Given the description of an element on the screen output the (x, y) to click on. 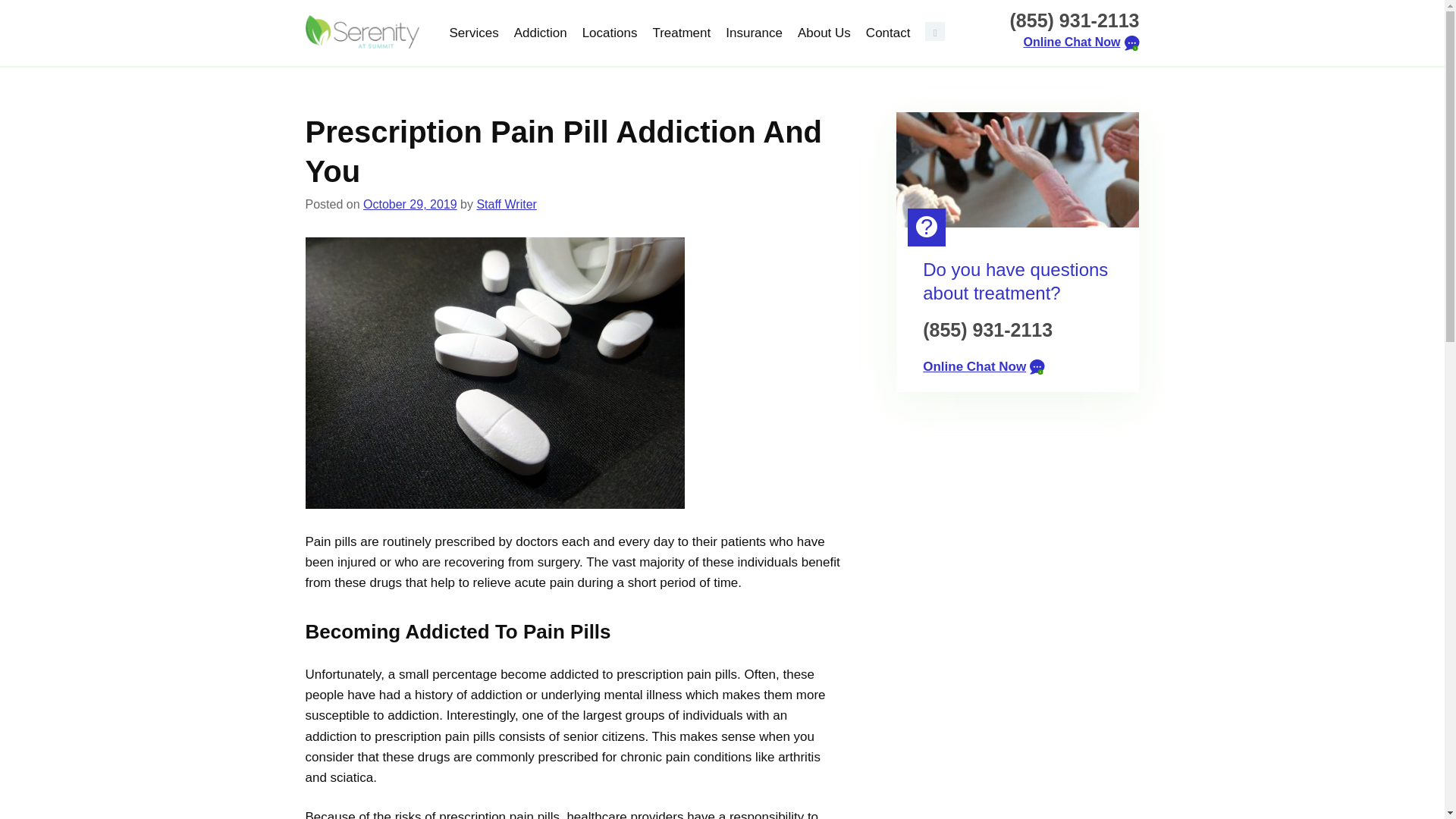
Serenity at Summit (361, 31)
Treatment (681, 33)
Locations (610, 33)
Addiction (540, 33)
Insurance (753, 33)
Addiction (540, 33)
